Given the description of an element on the screen output the (x, y) to click on. 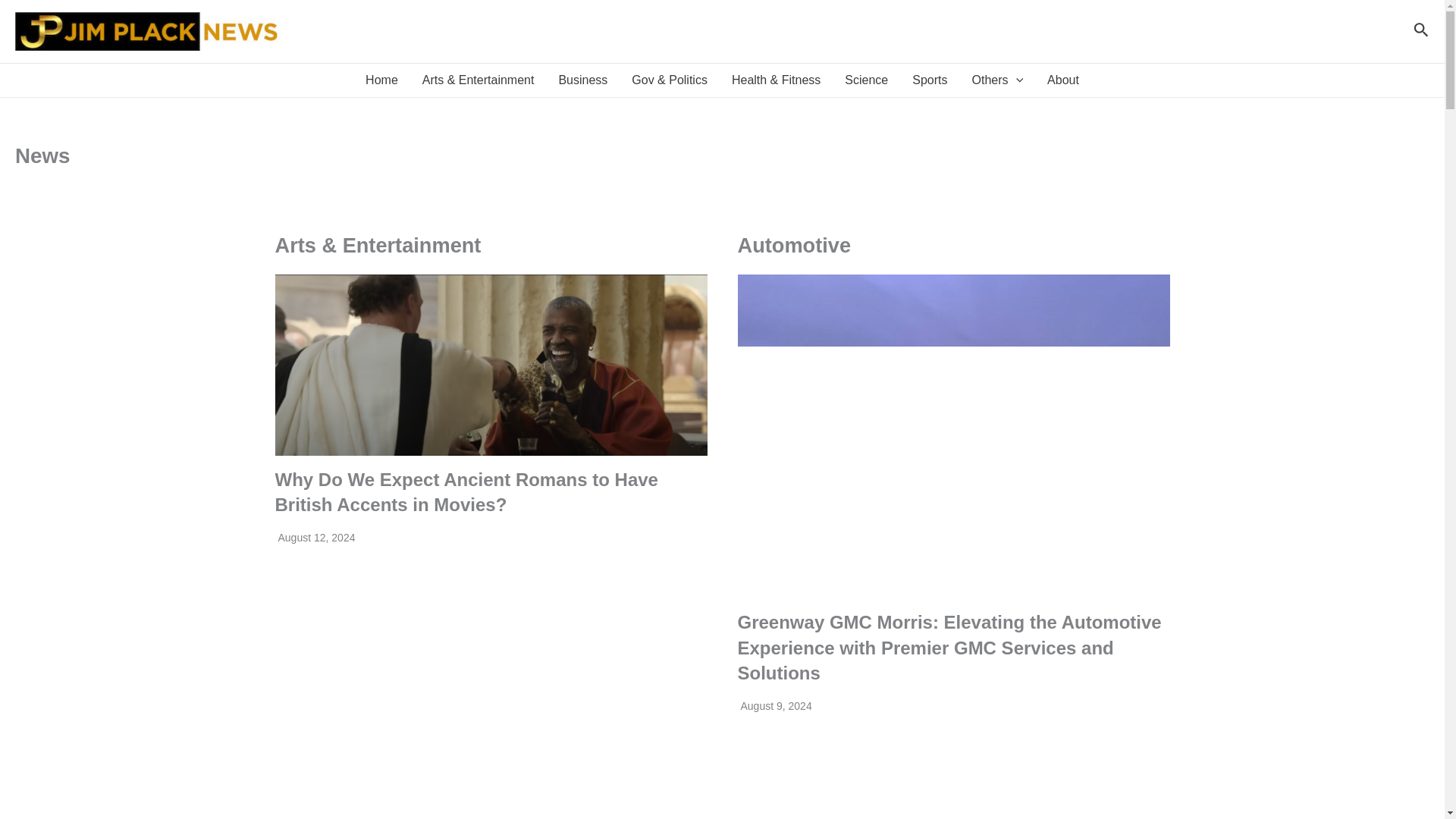
About (1062, 80)
Others (997, 80)
Science (865, 80)
Sports (929, 80)
Home (381, 80)
Business (583, 80)
